Given the description of an element on the screen output the (x, y) to click on. 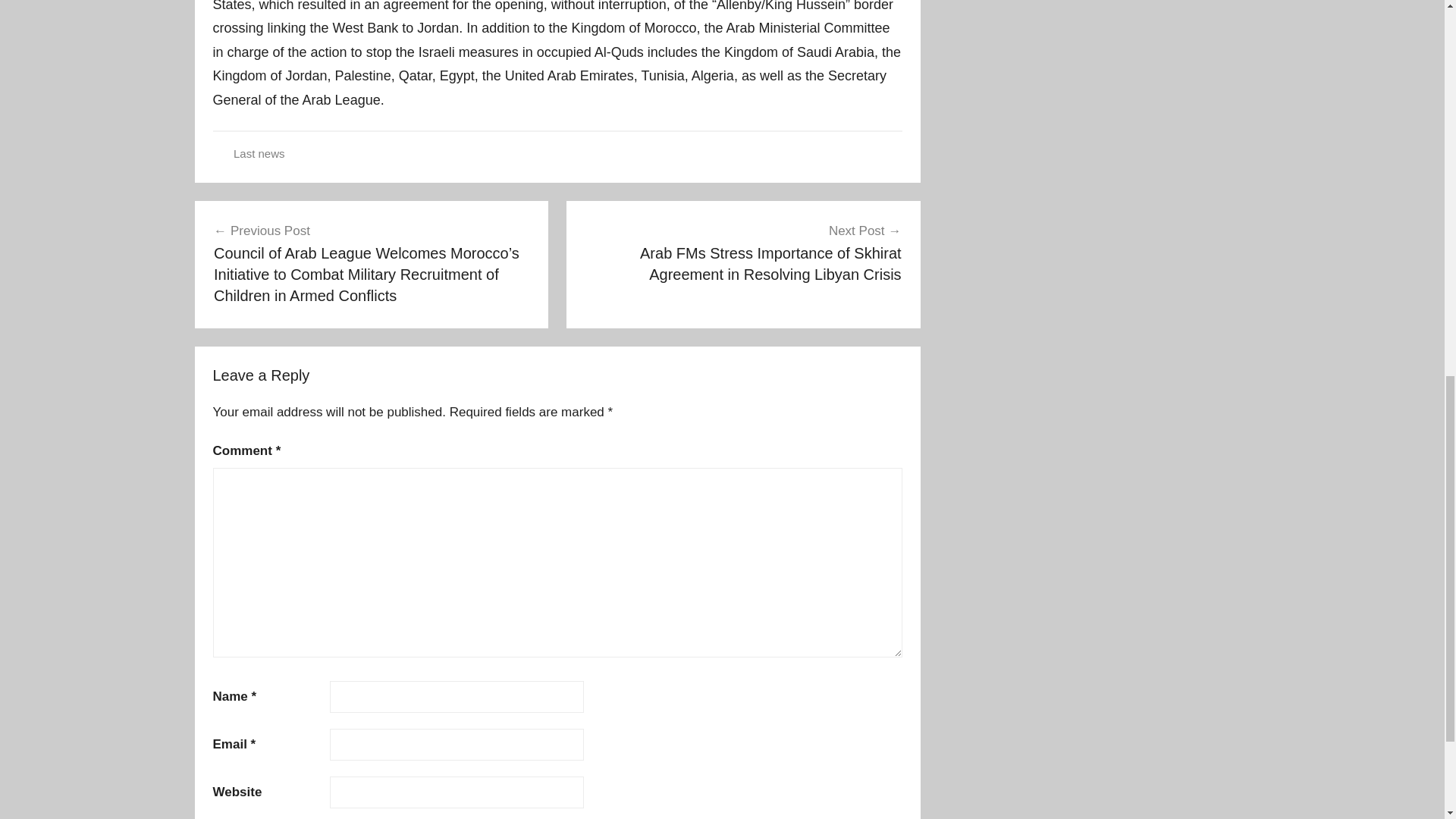
Last news (258, 153)
